Given the description of an element on the screen output the (x, y) to click on. 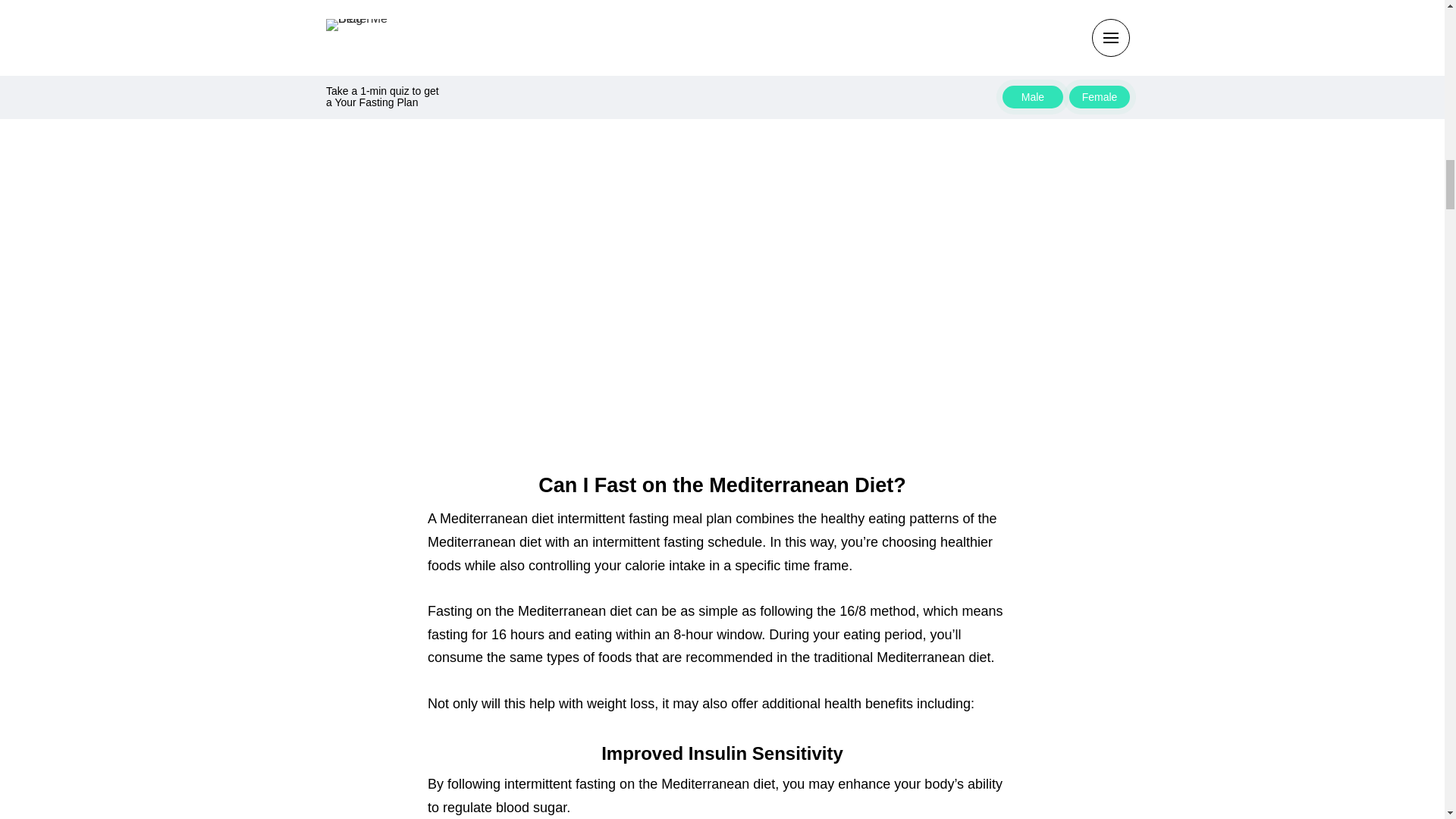
Health Benefits of Olives (634, 56)
fasting schedule (712, 541)
